Given the description of an element on the screen output the (x, y) to click on. 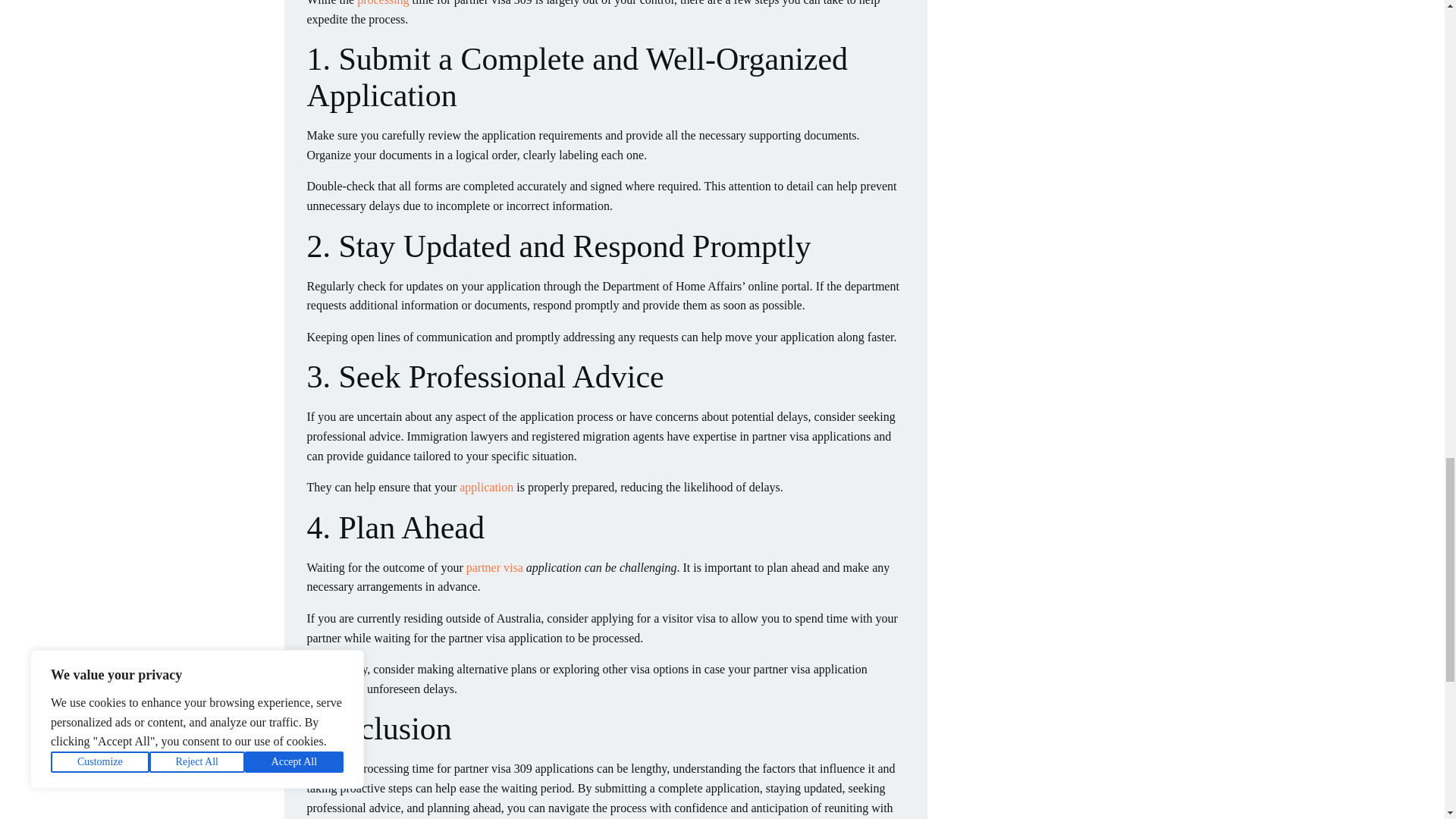
application (486, 486)
processing (382, 2)
partner visa (493, 567)
